Given the description of an element on the screen output the (x, y) to click on. 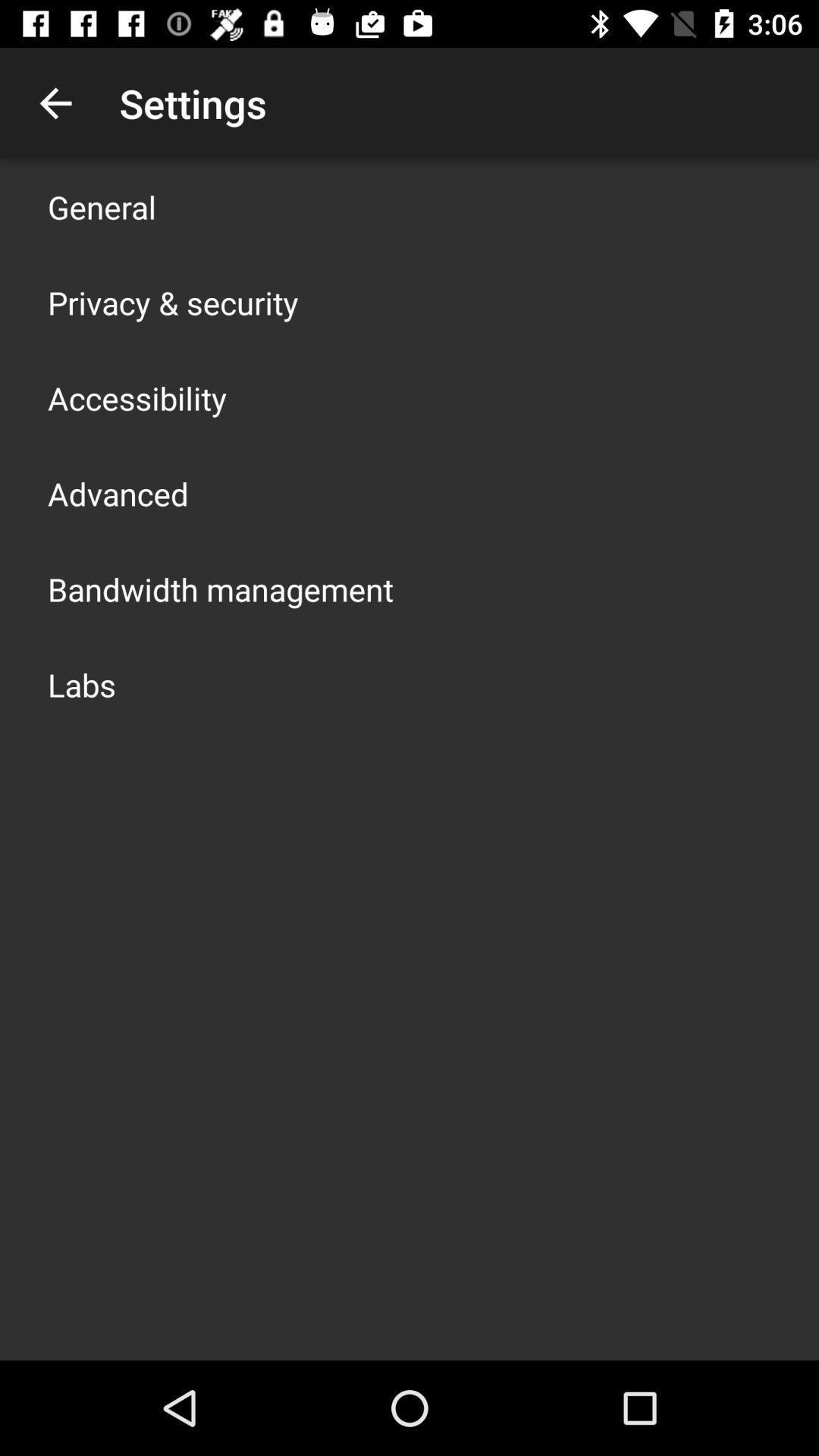
scroll until labs item (81, 684)
